Given the description of an element on the screen output the (x, y) to click on. 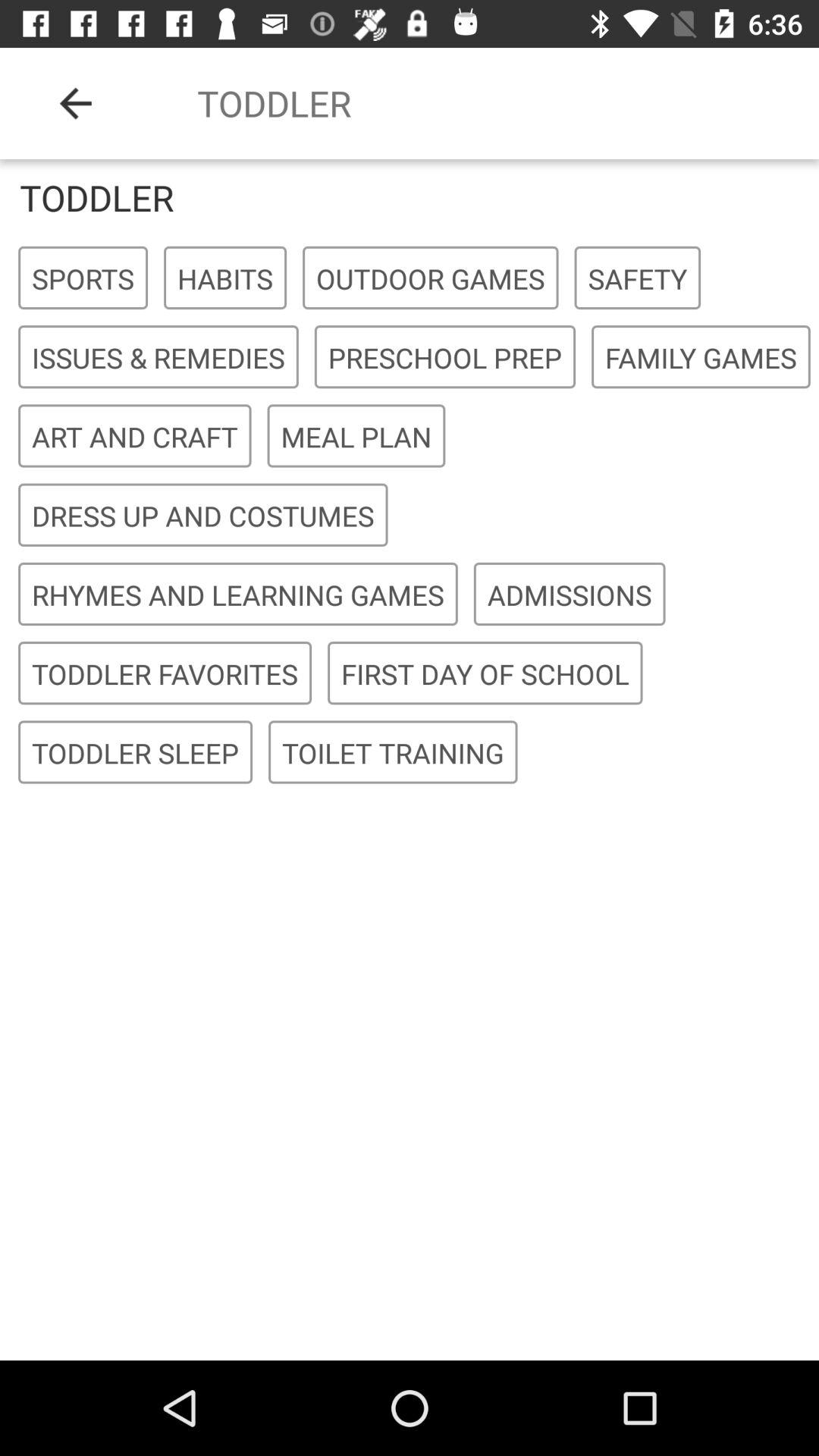
tap item to the left of the meal plan item (134, 436)
